Given the description of an element on the screen output the (x, y) to click on. 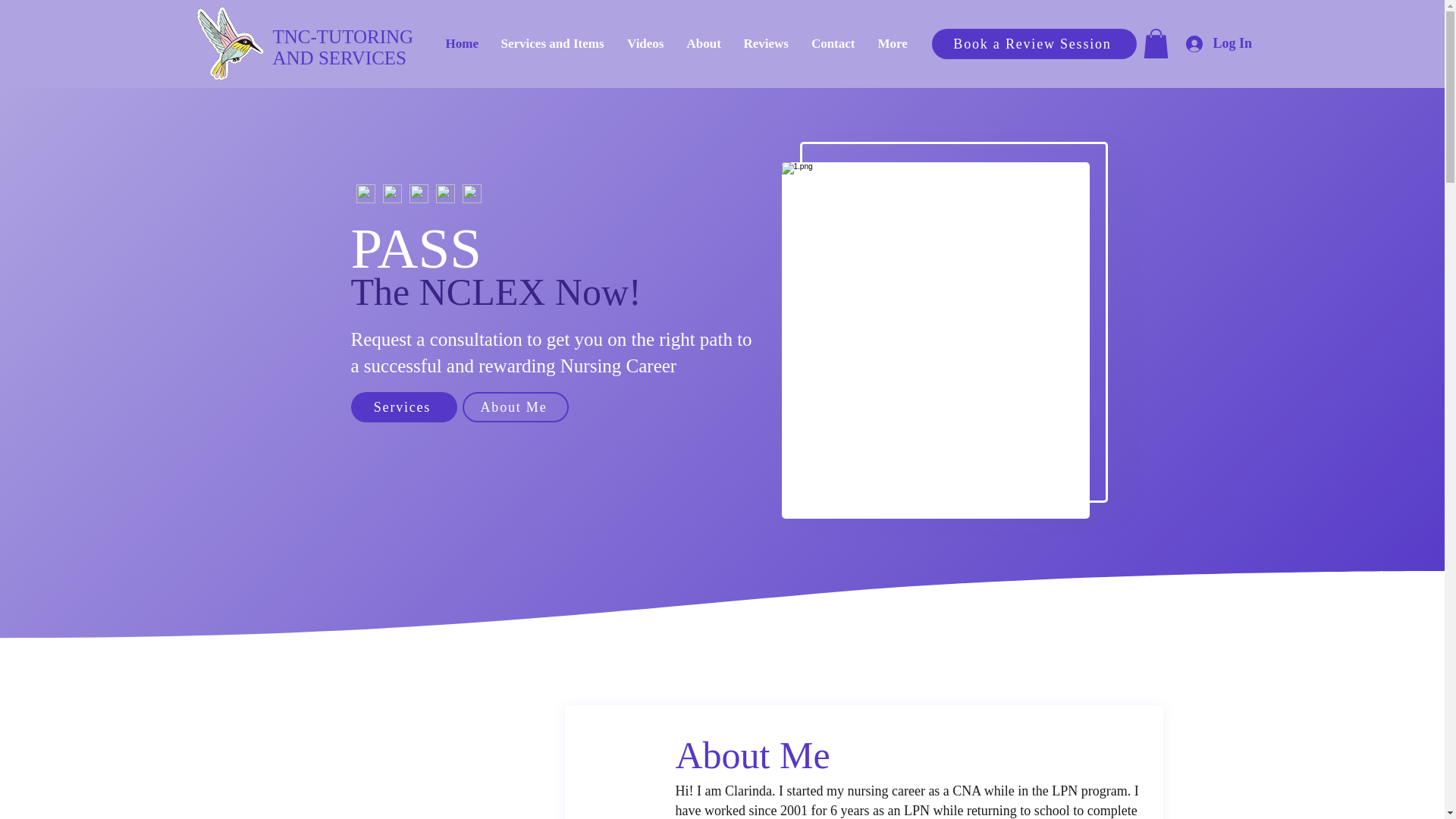
Home (461, 43)
Services (403, 407)
Services and Items (552, 43)
Log In (1210, 43)
Videos (645, 43)
Contact (832, 43)
Book a Review Session (343, 46)
Reviews (1033, 43)
About Me (765, 43)
About (516, 407)
